Given the description of an element on the screen output the (x, y) to click on. 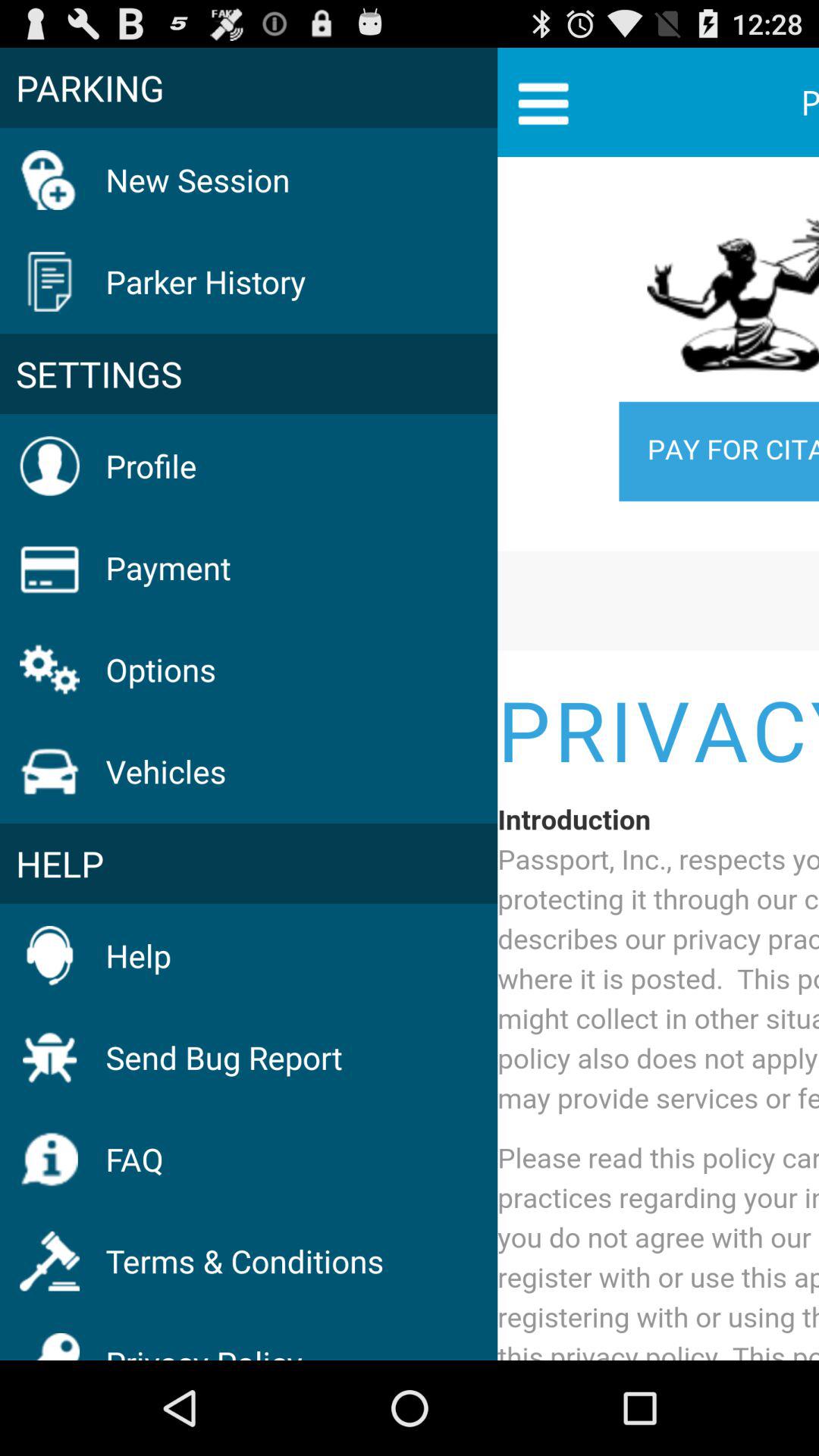
google option (658, 760)
